Given the description of an element on the screen output the (x, y) to click on. 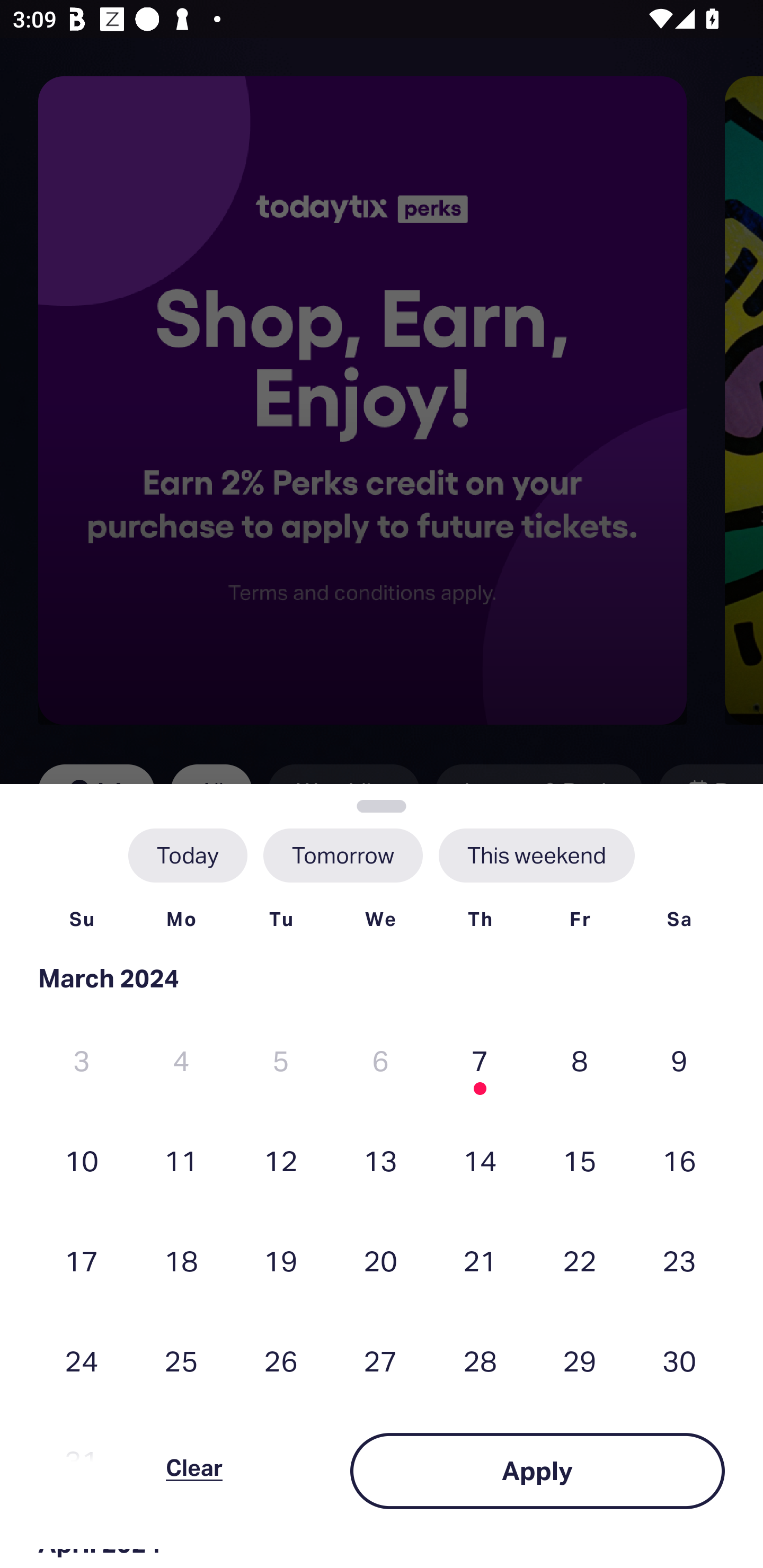
Today (187, 854)
Tomorrow (342, 854)
This weekend (536, 854)
3 (81, 1060)
4 (181, 1060)
5 (280, 1060)
6 (380, 1060)
7 (479, 1060)
8 (579, 1060)
9 (678, 1060)
10 (81, 1160)
11 (181, 1160)
12 (280, 1160)
13 (380, 1160)
14 (479, 1160)
15 (579, 1160)
16 (678, 1160)
17 (81, 1260)
18 (181, 1260)
19 (280, 1260)
20 (380, 1260)
21 (479, 1260)
22 (579, 1260)
23 (678, 1260)
24 (81, 1360)
25 (181, 1360)
26 (280, 1360)
27 (380, 1360)
28 (479, 1360)
29 (579, 1360)
30 (678, 1360)
Clear (194, 1470)
Apply (537, 1470)
